Given the description of an element on the screen output the (x, y) to click on. 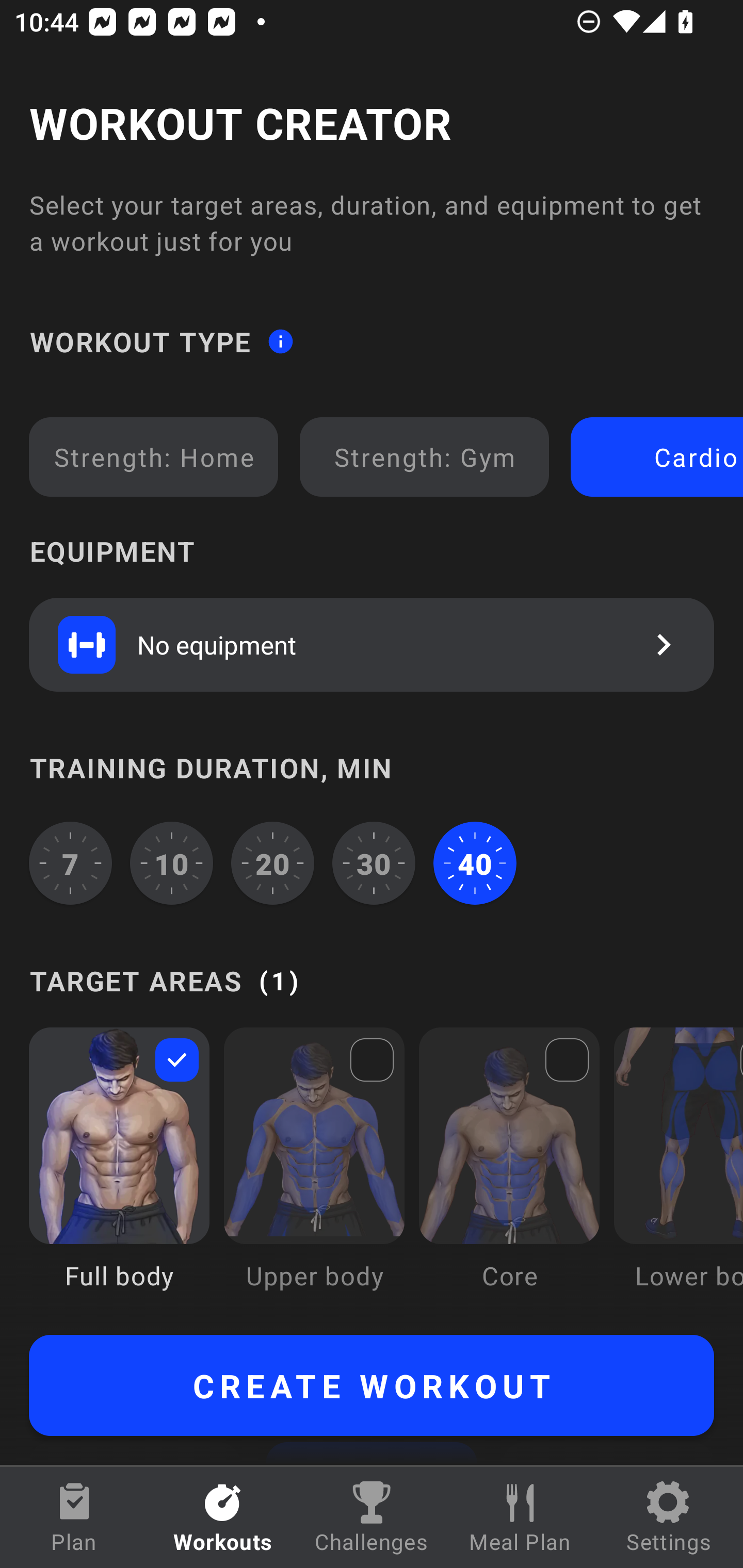
Workout type information button (280, 340)
Strength: Home (153, 457)
Strength: Gym (423, 457)
No equipment (371, 644)
7 (70, 863)
10 (171, 863)
20 (272, 863)
30 (373, 863)
40 (474, 863)
Upper body (313, 1172)
Core (509, 1172)
Lower body (678, 1172)
CREATE WORKOUT (371, 1385)
 Plan  (74, 1517)
 Challenges  (371, 1517)
 Meal Plan  (519, 1517)
 Settings  (668, 1517)
